Given the description of an element on the screen output the (x, y) to click on. 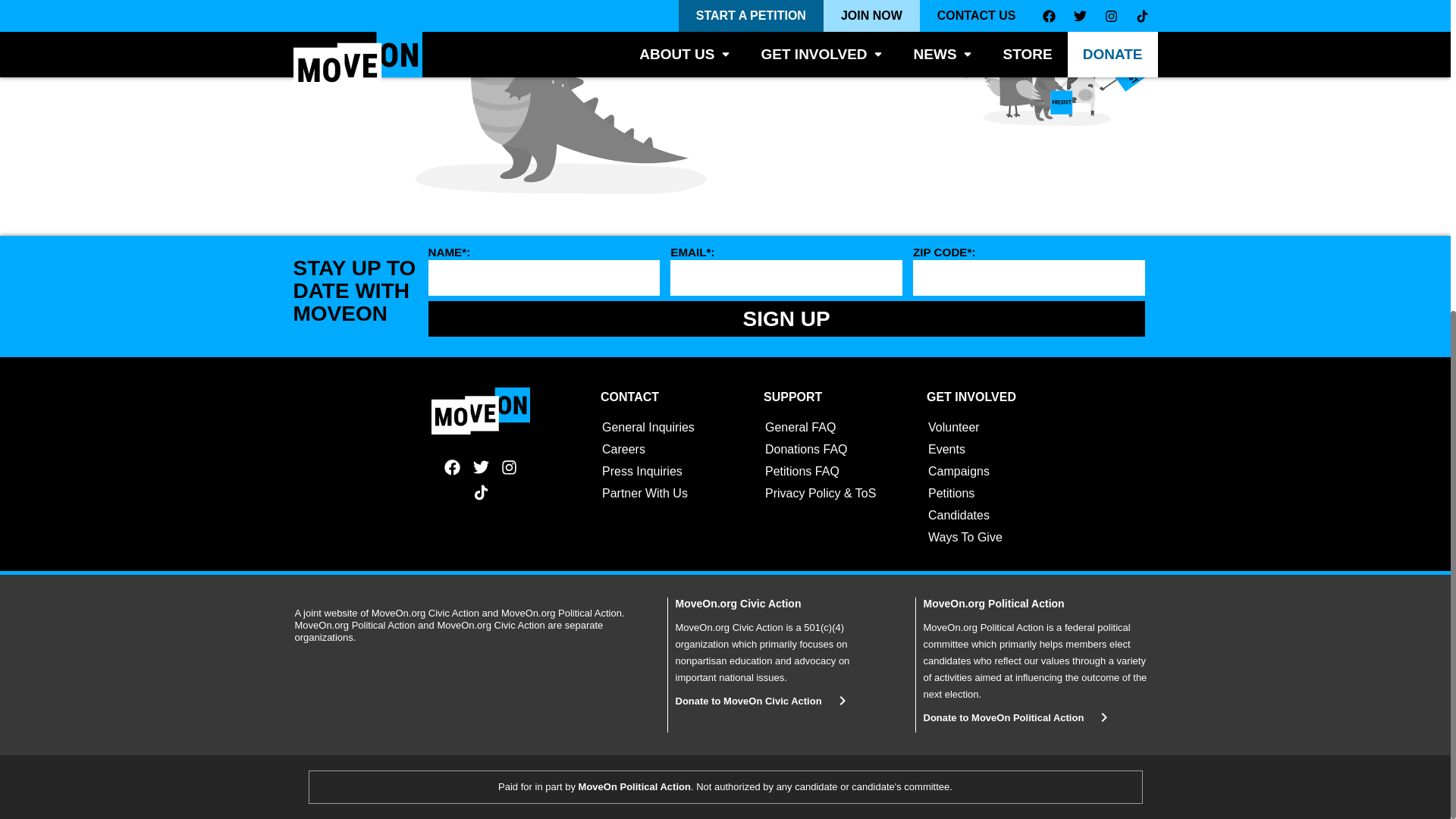
SIGN UP (786, 318)
General FAQ (800, 427)
Partner With Us (644, 492)
General Inquiries (648, 427)
Press Inquiries (642, 471)
Careers (623, 449)
